Given the description of an element on the screen output the (x, y) to click on. 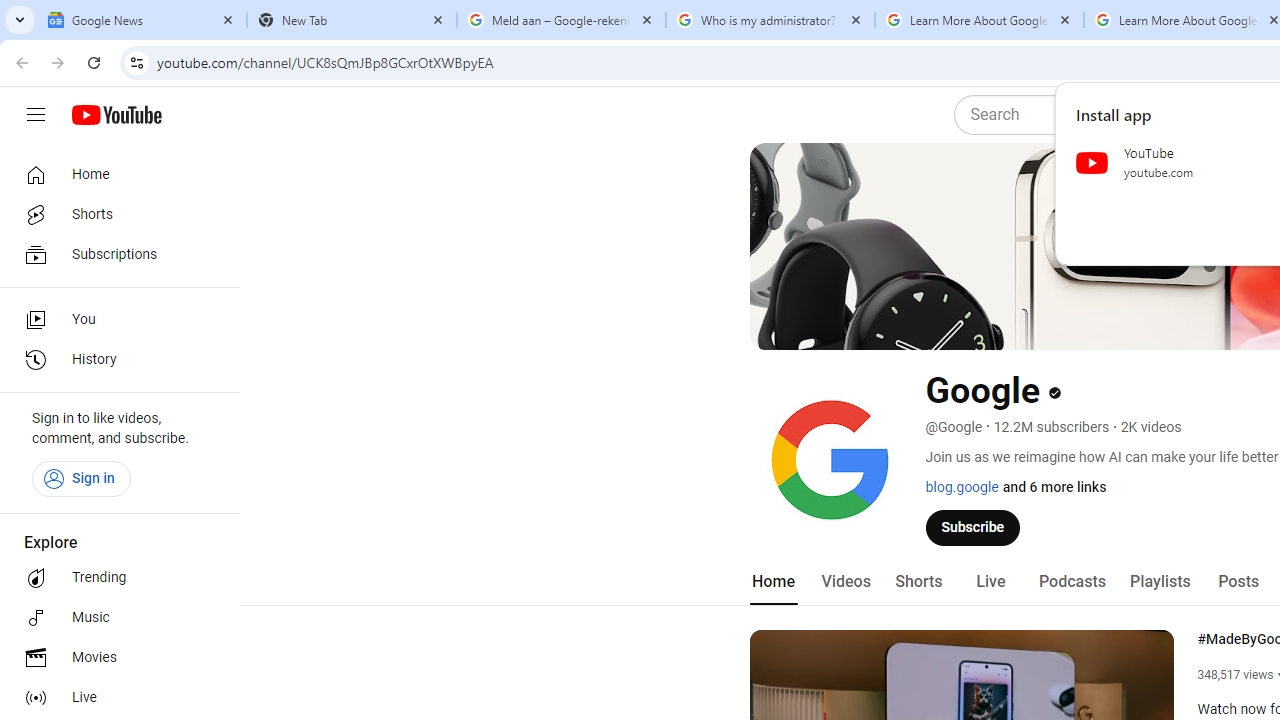
YouTube Home (116, 115)
Shorts (918, 581)
Movies (113, 657)
Home (772, 581)
Live (990, 581)
Google News (142, 20)
Live (113, 697)
Trending (113, 578)
Subscriptions (113, 254)
